Given the description of an element on the screen output the (x, y) to click on. 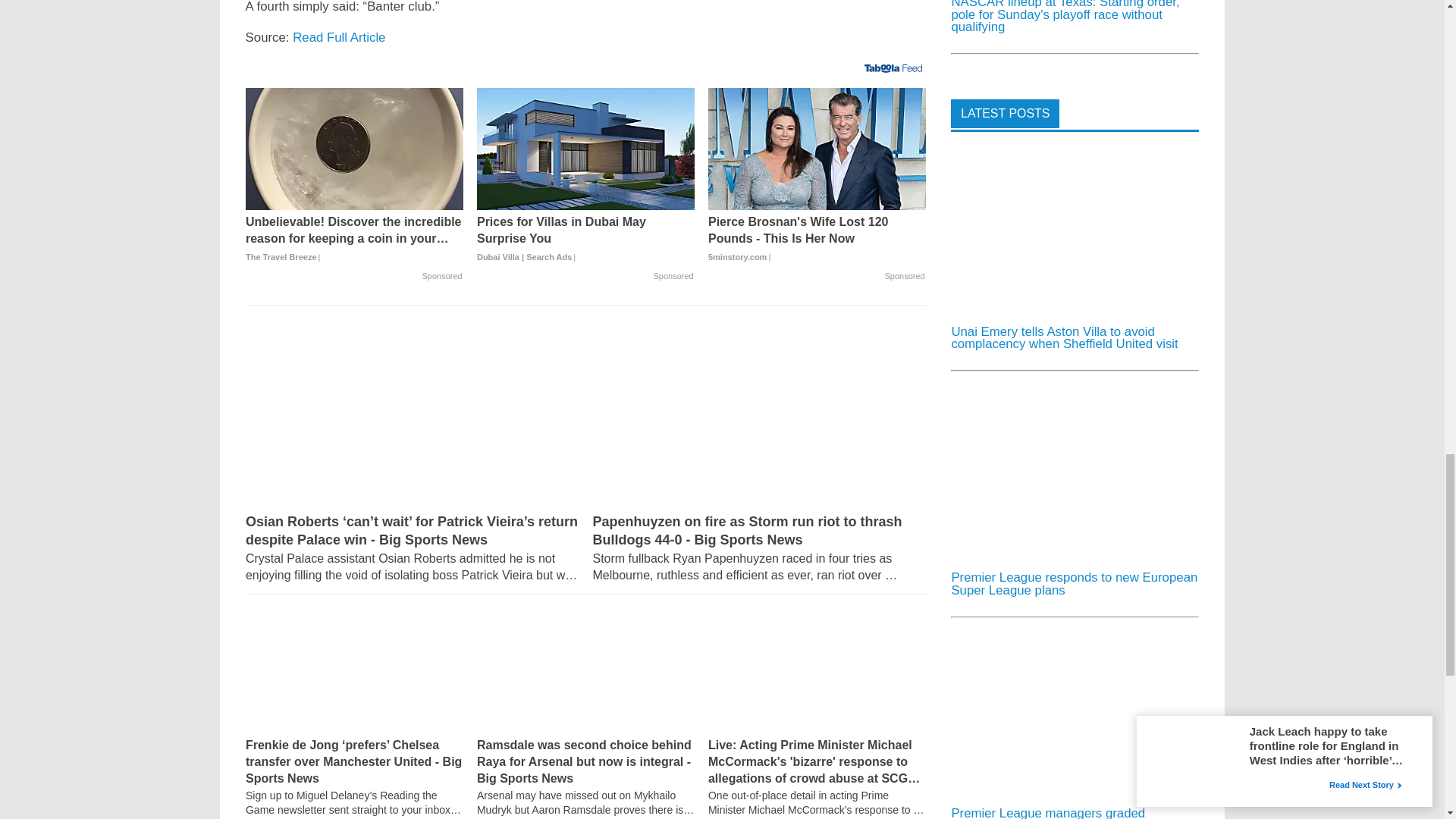
Pierce Brosnan's Wife Lost 120 Pounds - This Is Her Now (816, 239)
Read Full Article (338, 37)
Pierce Brosnan's Wife Lost 120 Pounds - This Is Her Now (816, 148)
Prices for Villas in Dubai May Surprise You (585, 239)
Sponsored (441, 276)
Prices for Villas in Dubai May Surprise You (585, 148)
